Given the description of an element on the screen output the (x, y) to click on. 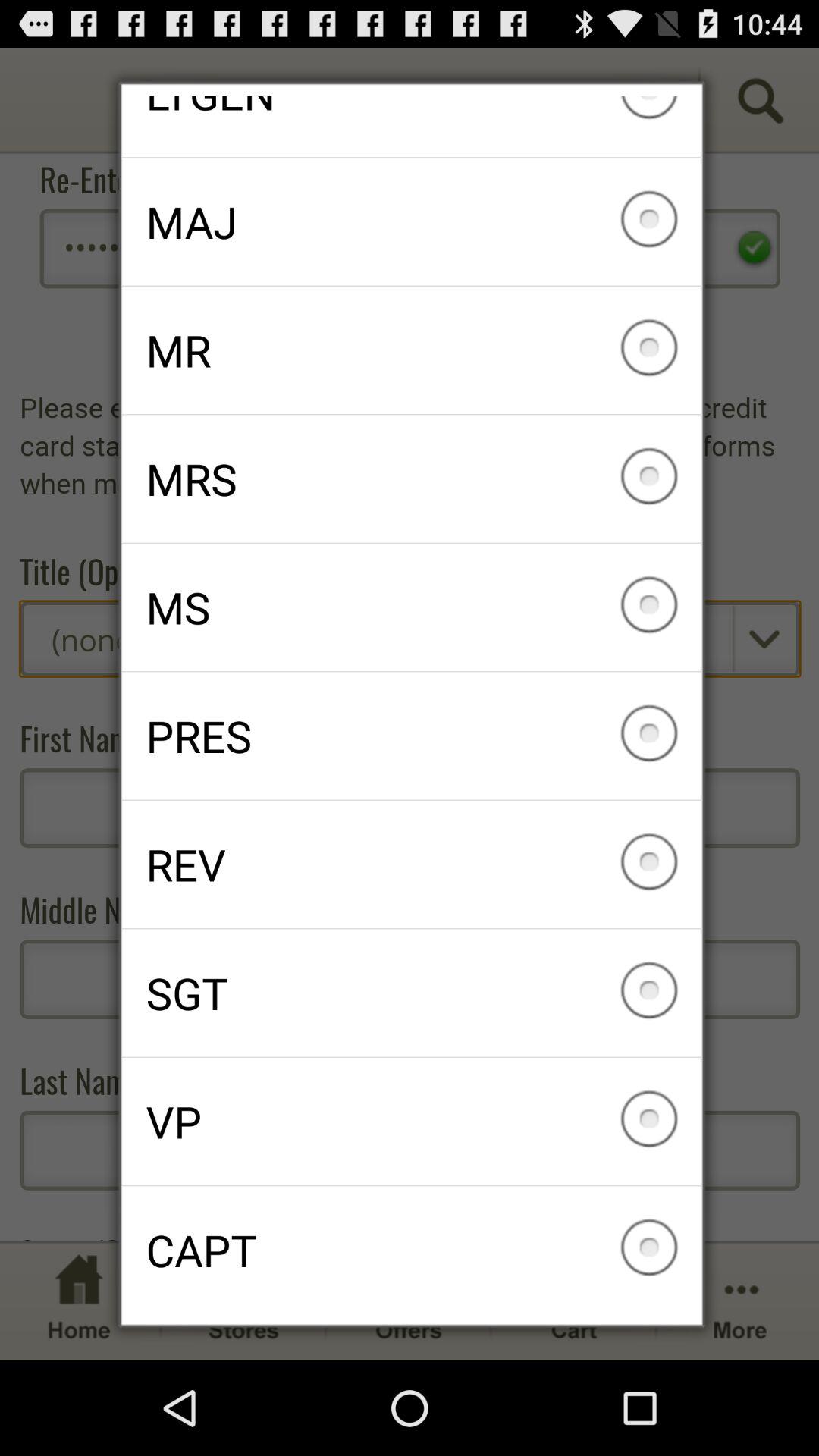
turn off capt icon (411, 1249)
